Given the description of an element on the screen output the (x, y) to click on. 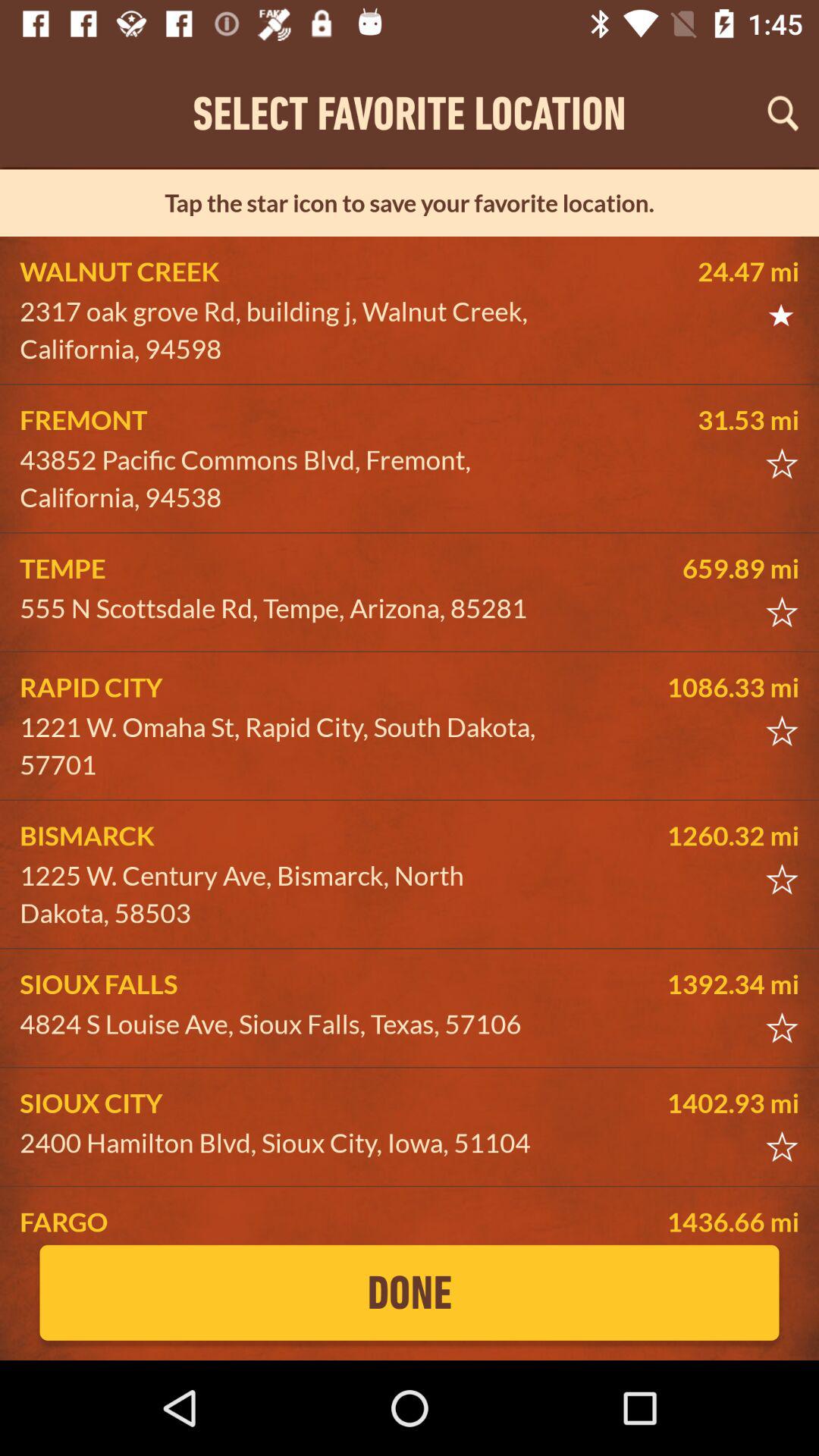
turn on the icon above the done item (285, 1221)
